Given the description of an element on the screen output the (x, y) to click on. 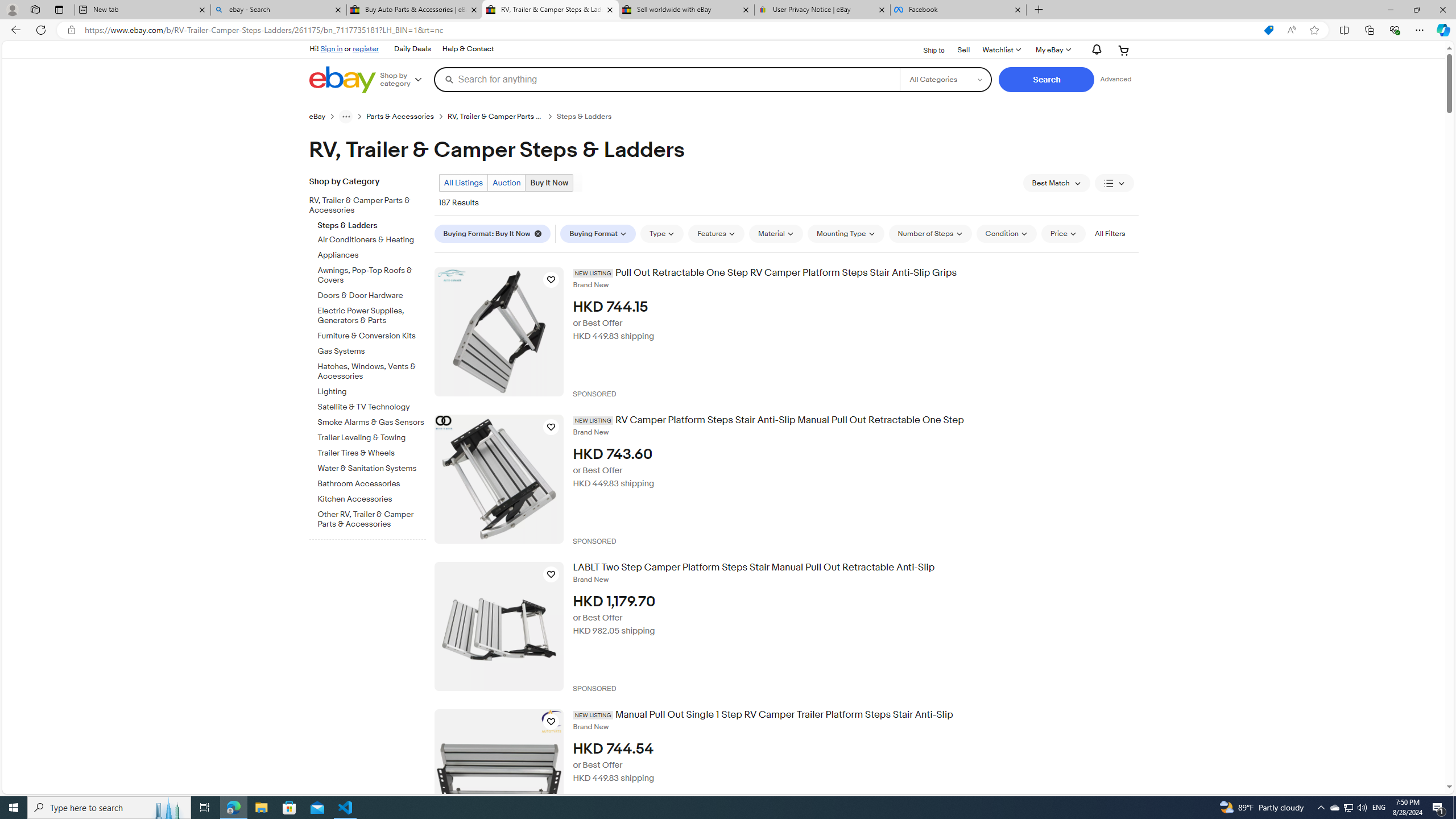
eBay (317, 116)
Water & Sanitation Systems (371, 468)
Kitchen Accessories (371, 499)
Furniture & Conversion Kits (371, 335)
Buying Format: Buy It Now - Remove Filter (492, 233)
Parts & Accessories (399, 116)
This site has coupons! Shopping in Microsoft Edge (1268, 29)
My eBayExpand My eBay (1052, 49)
breadcrumb menu (346, 116)
Bathroom Accessories (371, 484)
